Given the description of an element on the screen output the (x, y) to click on. 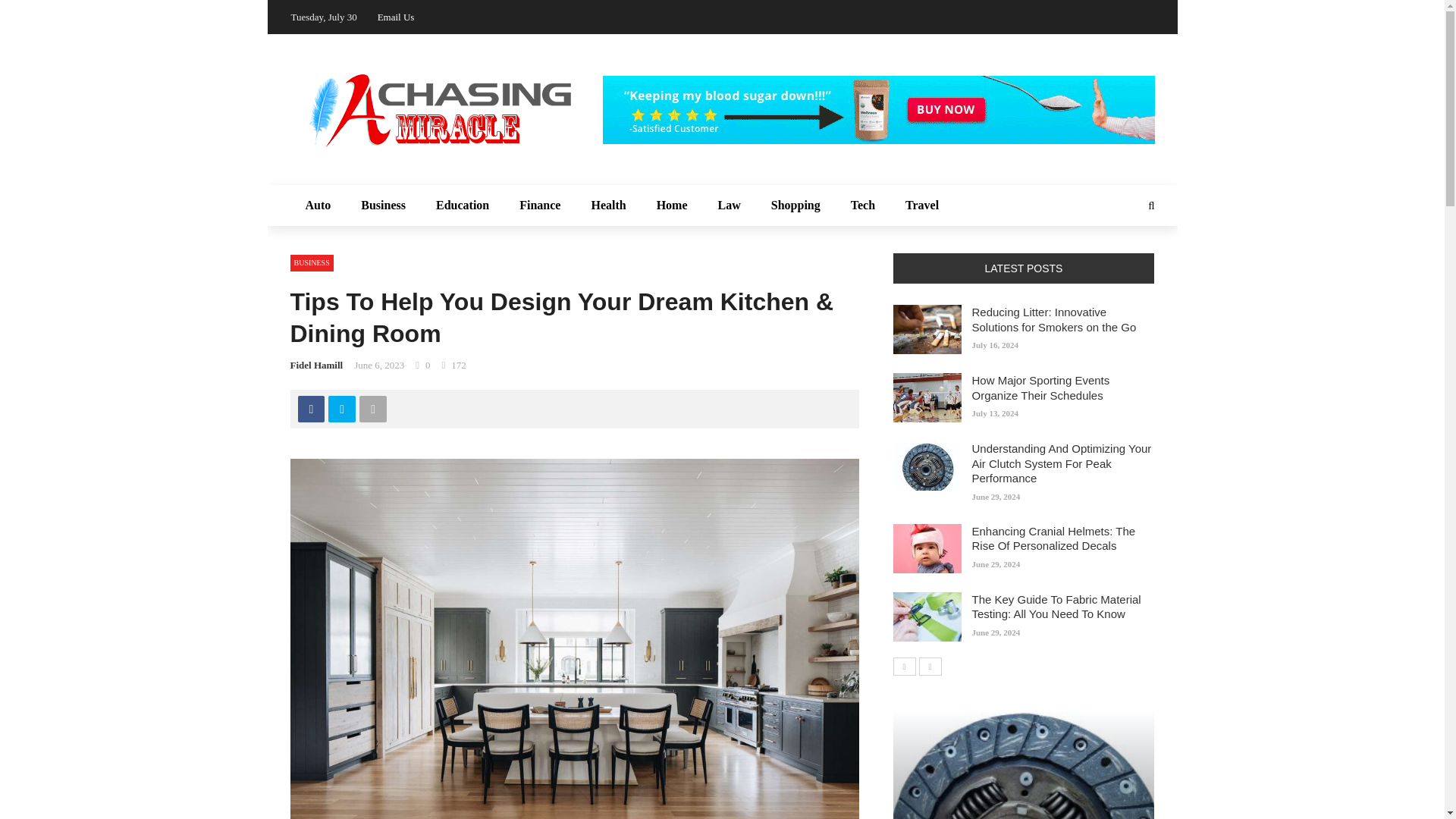
Business (383, 205)
Tech (862, 205)
Law (729, 205)
Fidel Hamill (315, 365)
Home (672, 205)
Travel (921, 205)
Email Us (395, 16)
Finance (539, 205)
Health (607, 205)
Auto (317, 205)
Shopping (795, 205)
BUSINESS (311, 262)
Education (461, 205)
